Given the description of an element on the screen output the (x, y) to click on. 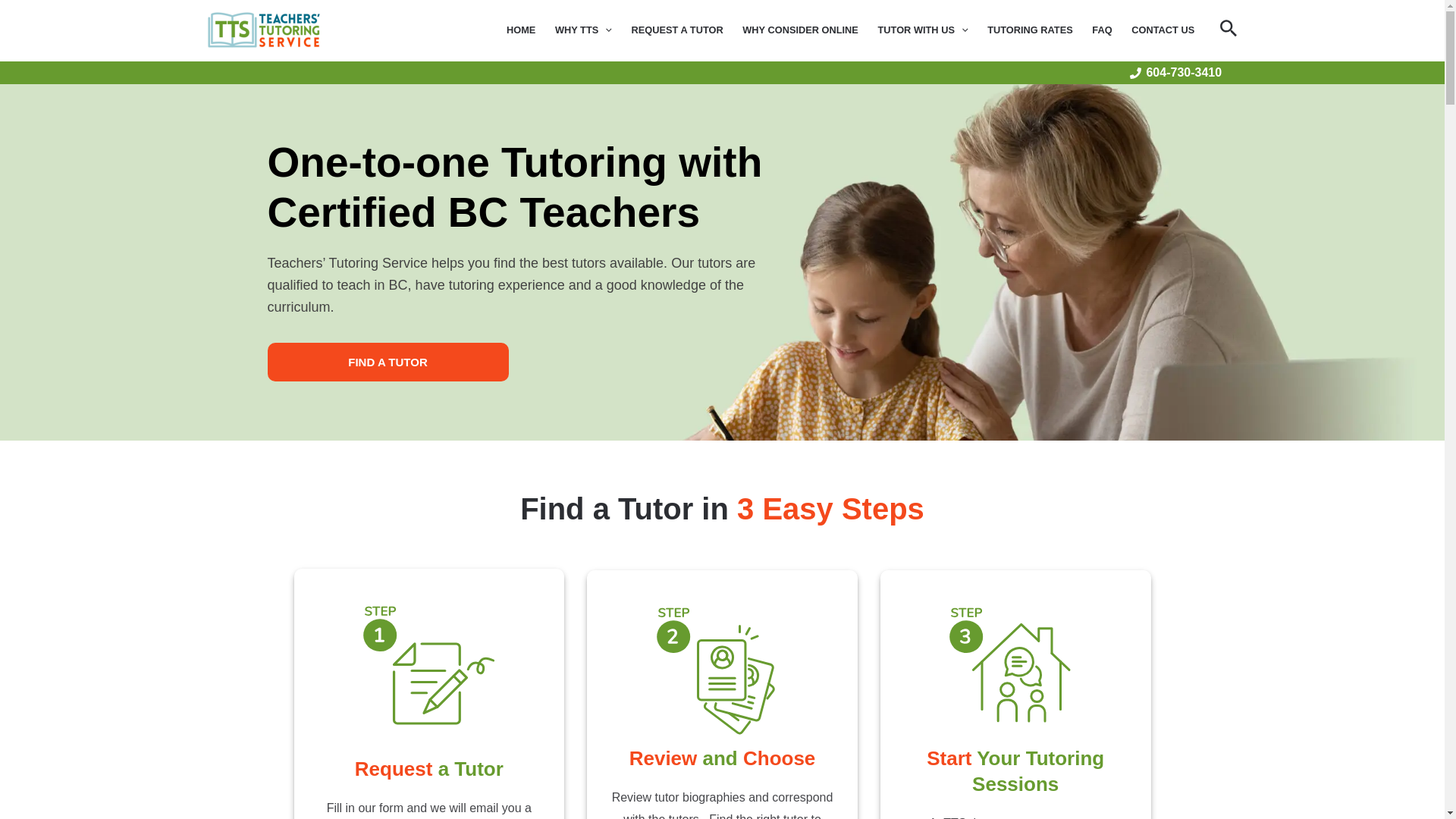
TUTOR WITH US (922, 30)
CONTACT US (1162, 30)
604-730-3410 (1175, 72)
TUTORING RATES (1028, 30)
HOME (520, 30)
WHY CONSIDER ONLINE (799, 30)
WHY TTS (582, 30)
REQUEST A TUTOR (677, 30)
